Given the description of an element on the screen output the (x, y) to click on. 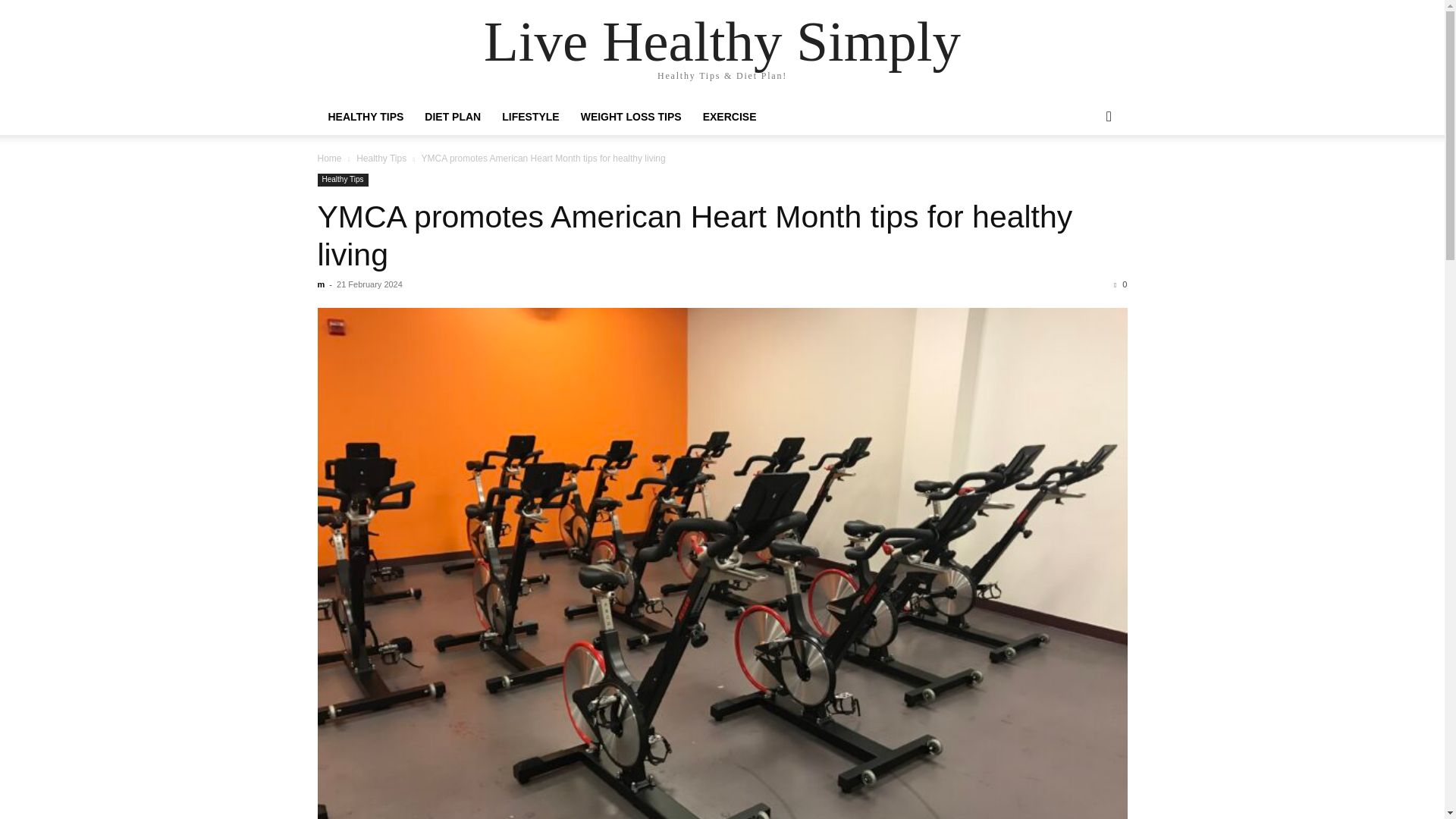
EXERCISE (730, 116)
YMCA promotes American Heart Month tips for healthy living (694, 235)
Healthy Tips (342, 179)
Search (1085, 177)
0 (1119, 284)
Healthy Tips (381, 158)
HEALTHY TIPS (365, 116)
WEIGHT LOSS TIPS (631, 116)
DIET PLAN (452, 116)
YMCA promotes American Heart Month tips for healthy living (694, 235)
Live Healthy Simply (721, 41)
View all posts in Healthy Tips (381, 158)
Home (328, 158)
LIFESTYLE (530, 116)
